Given the description of an element on the screen output the (x, y) to click on. 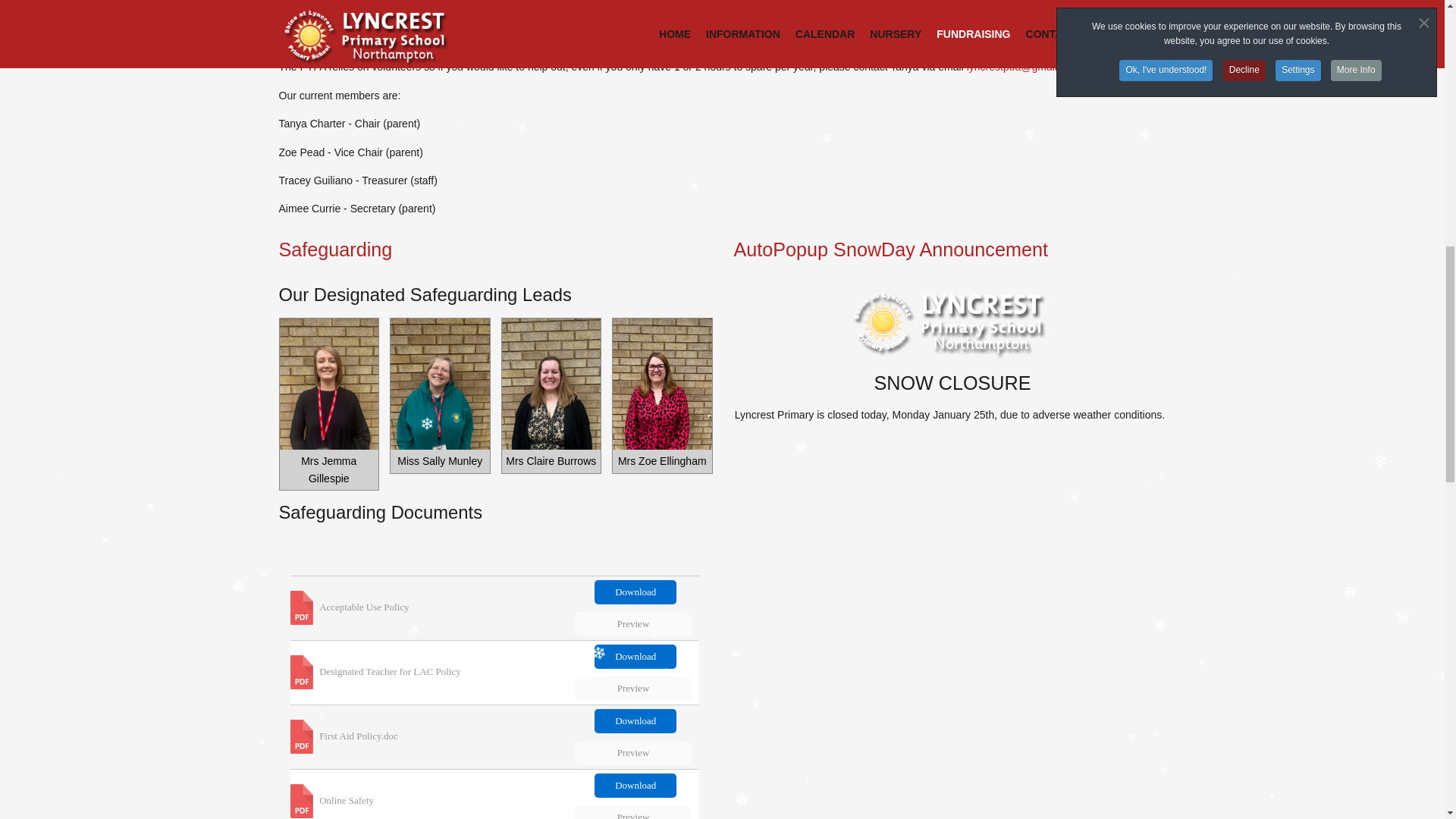
Download (635, 785)
Online Safety (346, 799)
Designated Teacher for LAC Policy (389, 671)
First Aid Policy.doc (357, 736)
Preview (632, 623)
Preview (632, 752)
Download (635, 591)
Download (635, 656)
Acceptable Use Policy (363, 606)
Download (635, 721)
Safeguarding (495, 249)
Preview (632, 688)
